Given the description of an element on the screen output the (x, y) to click on. 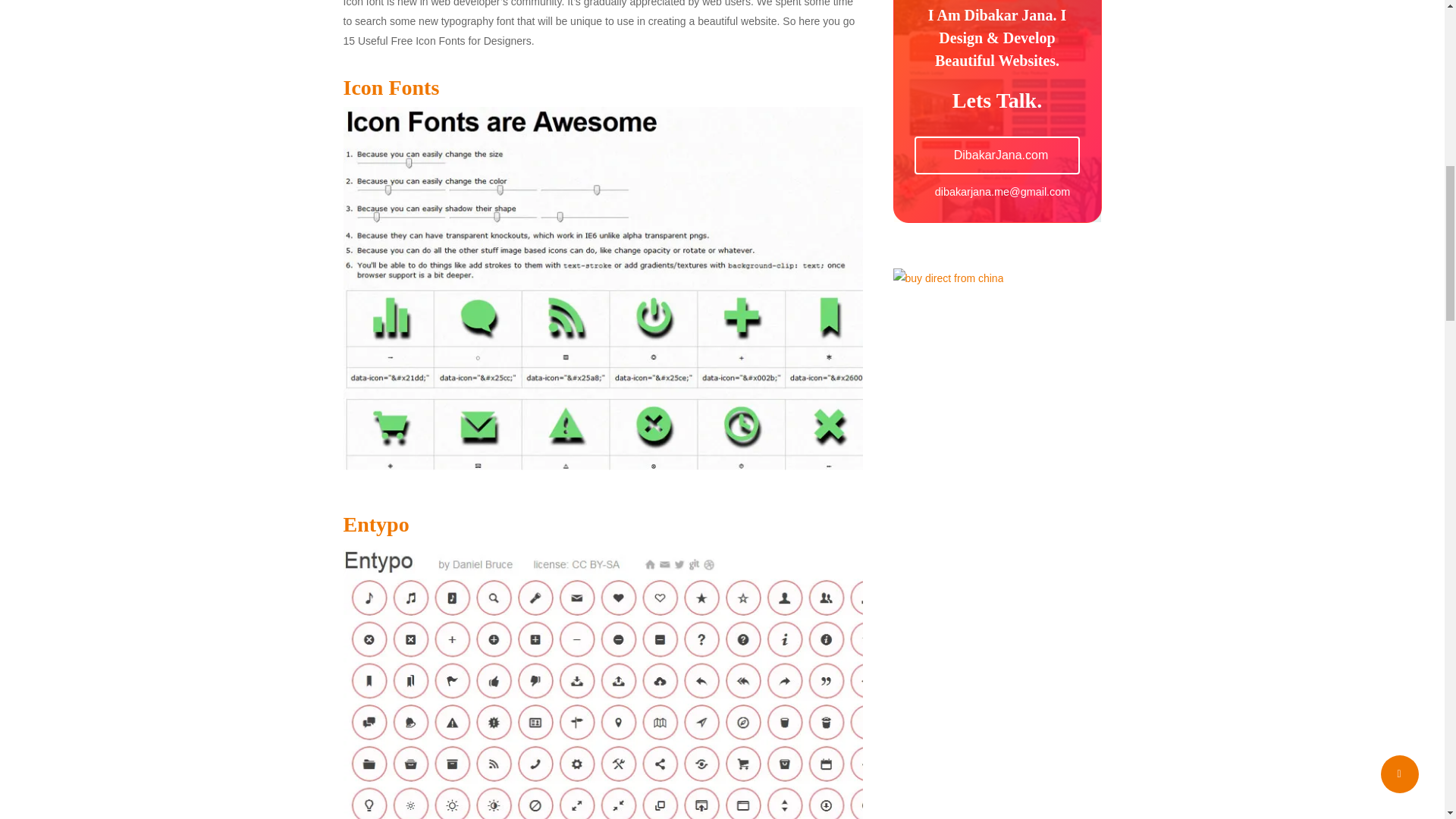
Entypo (375, 524)
Icon Fonts (390, 87)
